Given the description of an element on the screen output the (x, y) to click on. 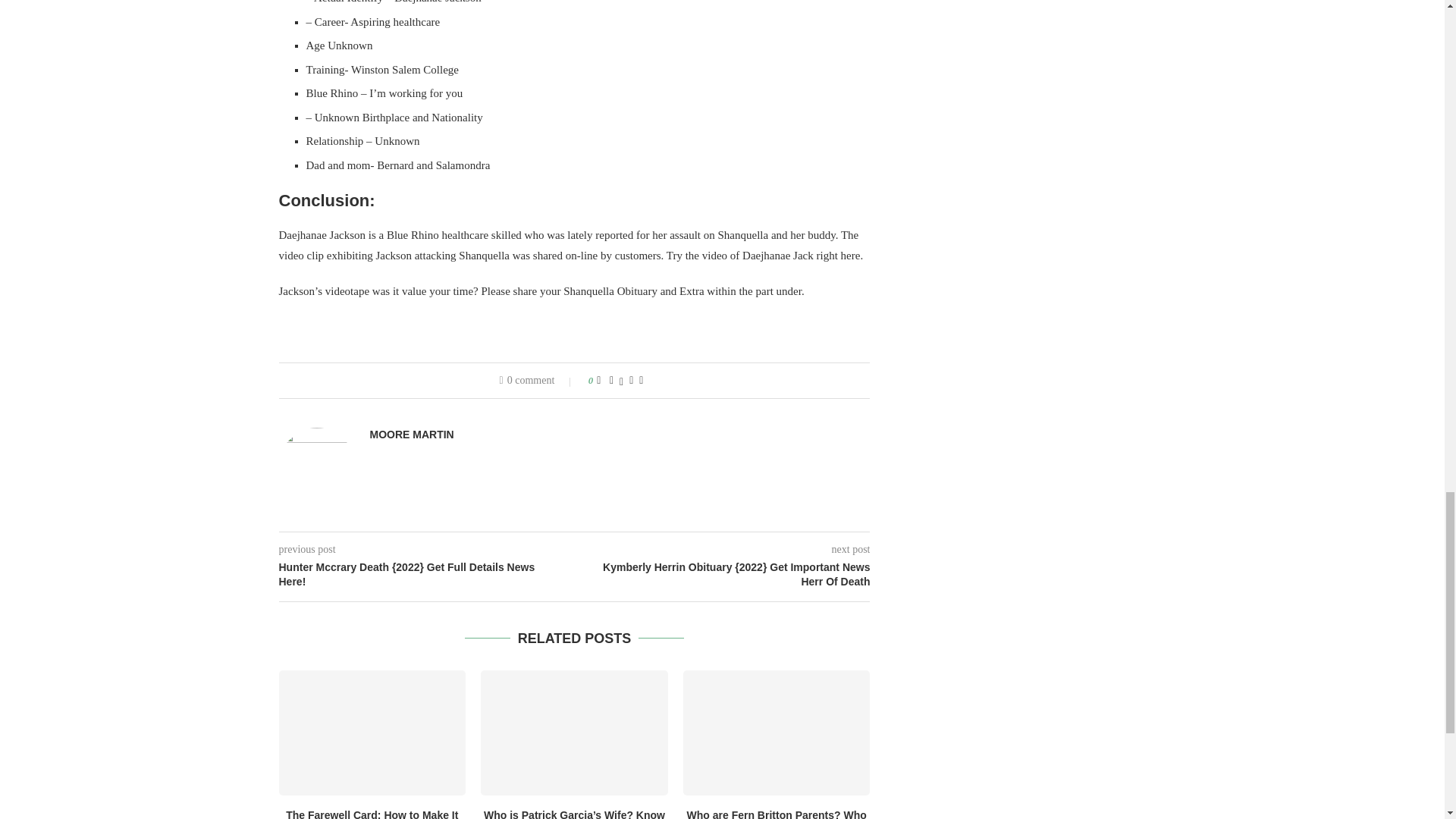
The Farewell Card: How to Make It Memorably... (371, 814)
Author Moore Martin (411, 434)
MOORE MARTIN (411, 434)
The Farewell Card: How to Make It Memorably Good (372, 732)
